Given the description of an element on the screen output the (x, y) to click on. 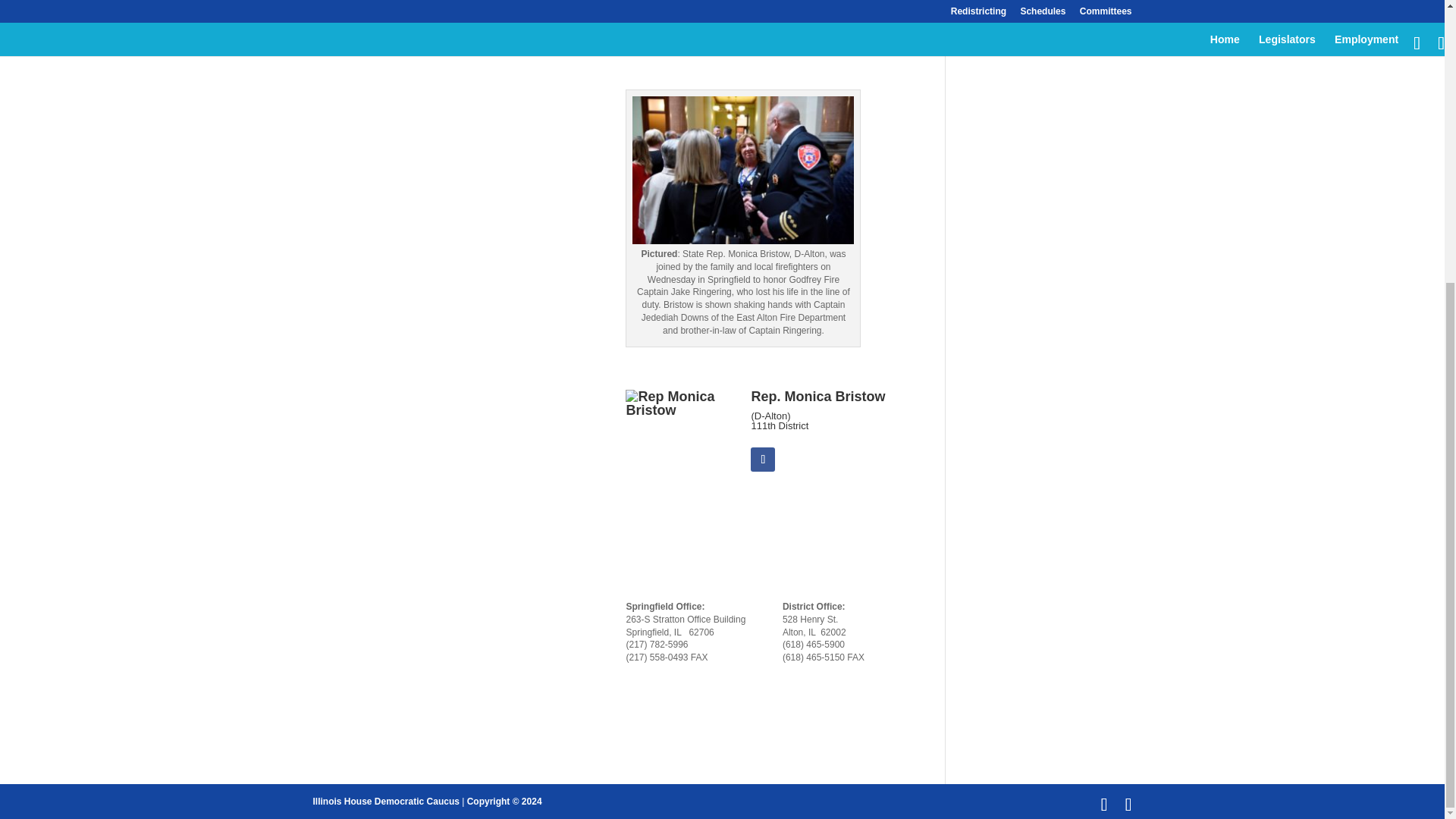
Follow on Facebook (762, 459)
IL House Democrats (385, 801)
Illinois House Democratic Caucus (385, 801)
